Given the description of an element on the screen output the (x, y) to click on. 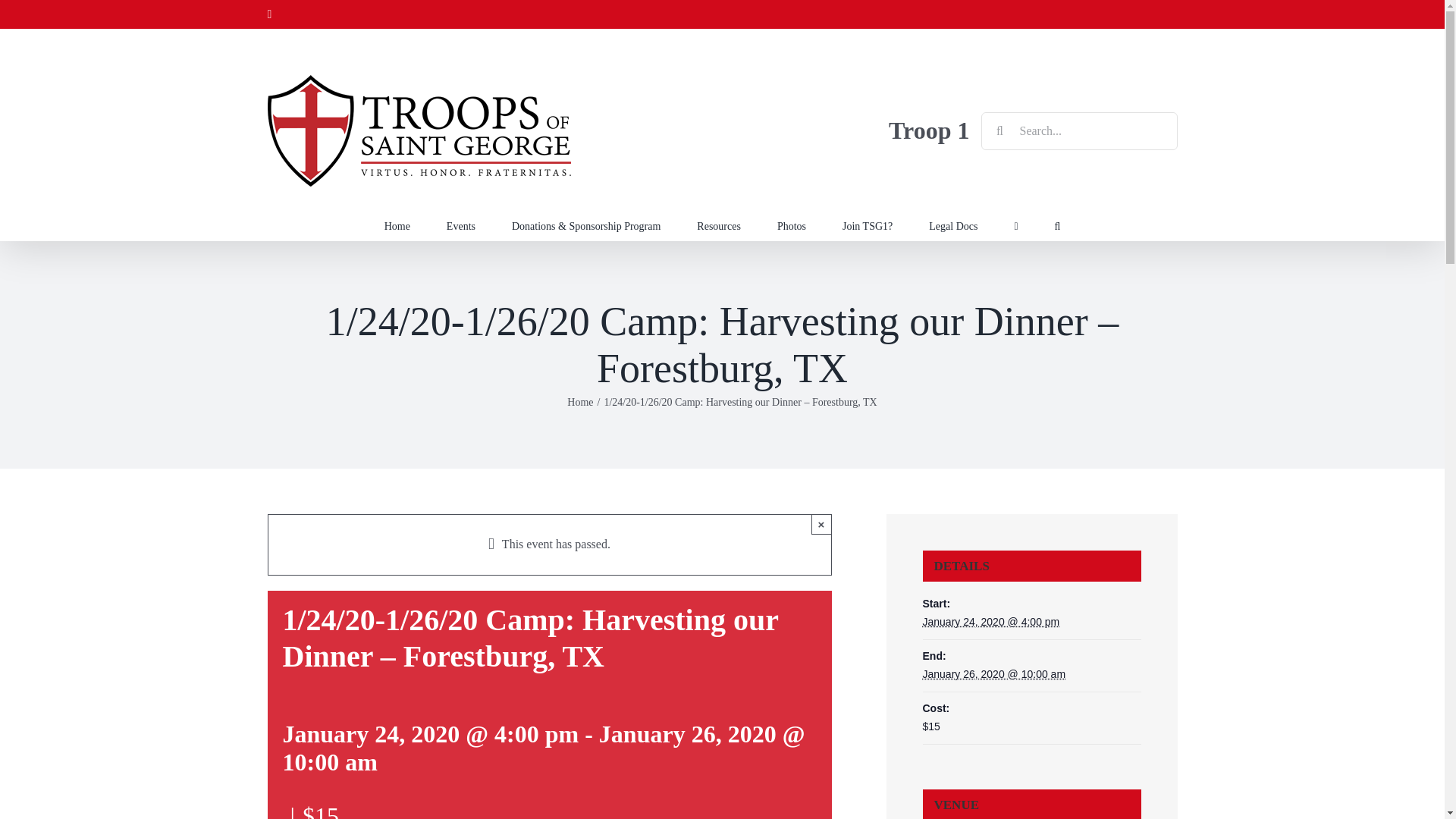
Join TSG1? (867, 224)
Resources (719, 224)
Legal Docs (952, 224)
Events (461, 224)
Photos (791, 224)
